Given the description of an element on the screen output the (x, y) to click on. 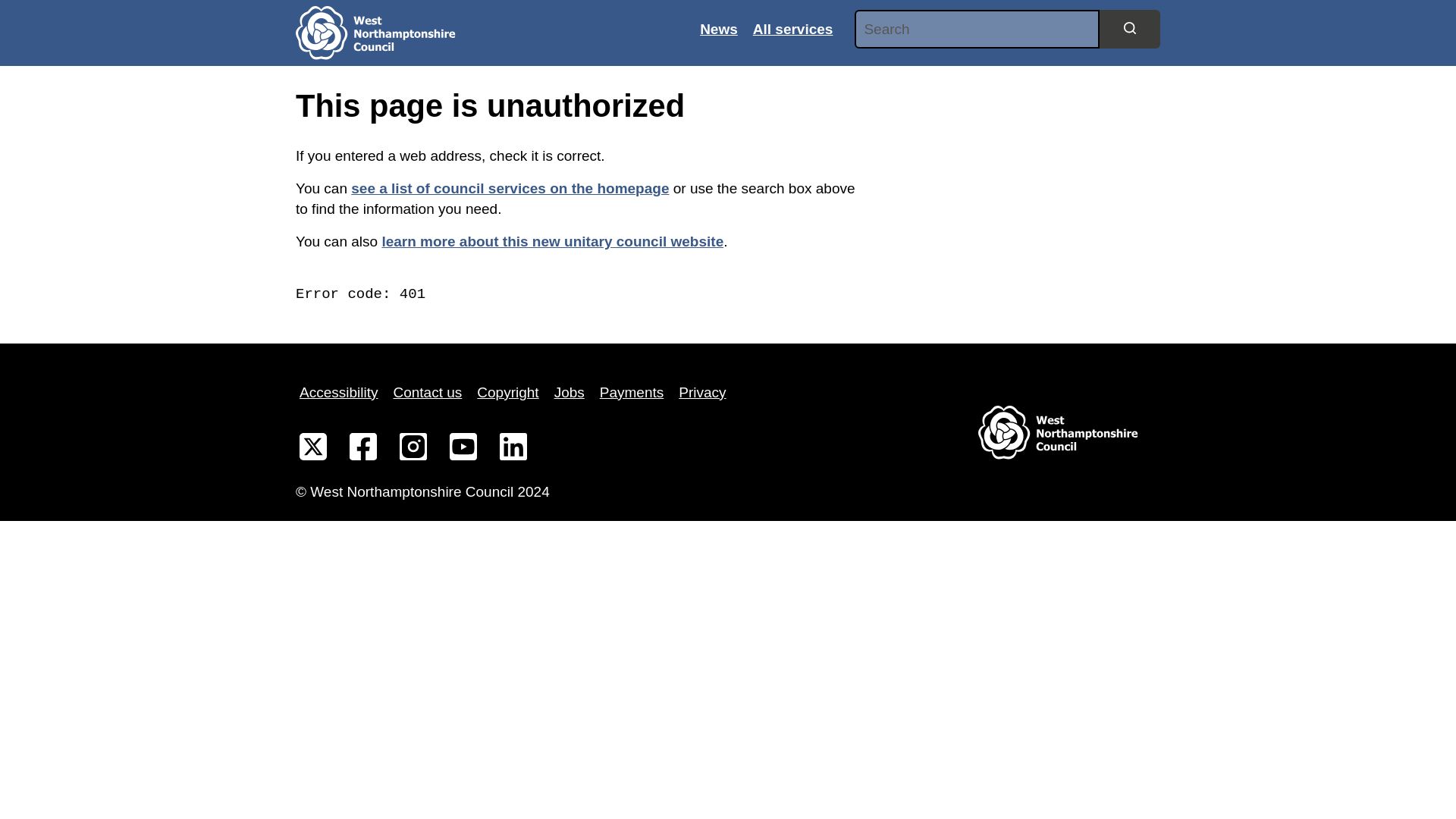
see a list of council services on the homepage (509, 188)
Contact us (426, 392)
Search (1129, 28)
Accessibility (338, 392)
Contact us (426, 392)
Jobs (569, 392)
Copyright (507, 392)
Payments (630, 392)
Payments (630, 392)
All services (793, 29)
